Given the description of an element on the screen output the (x, y) to click on. 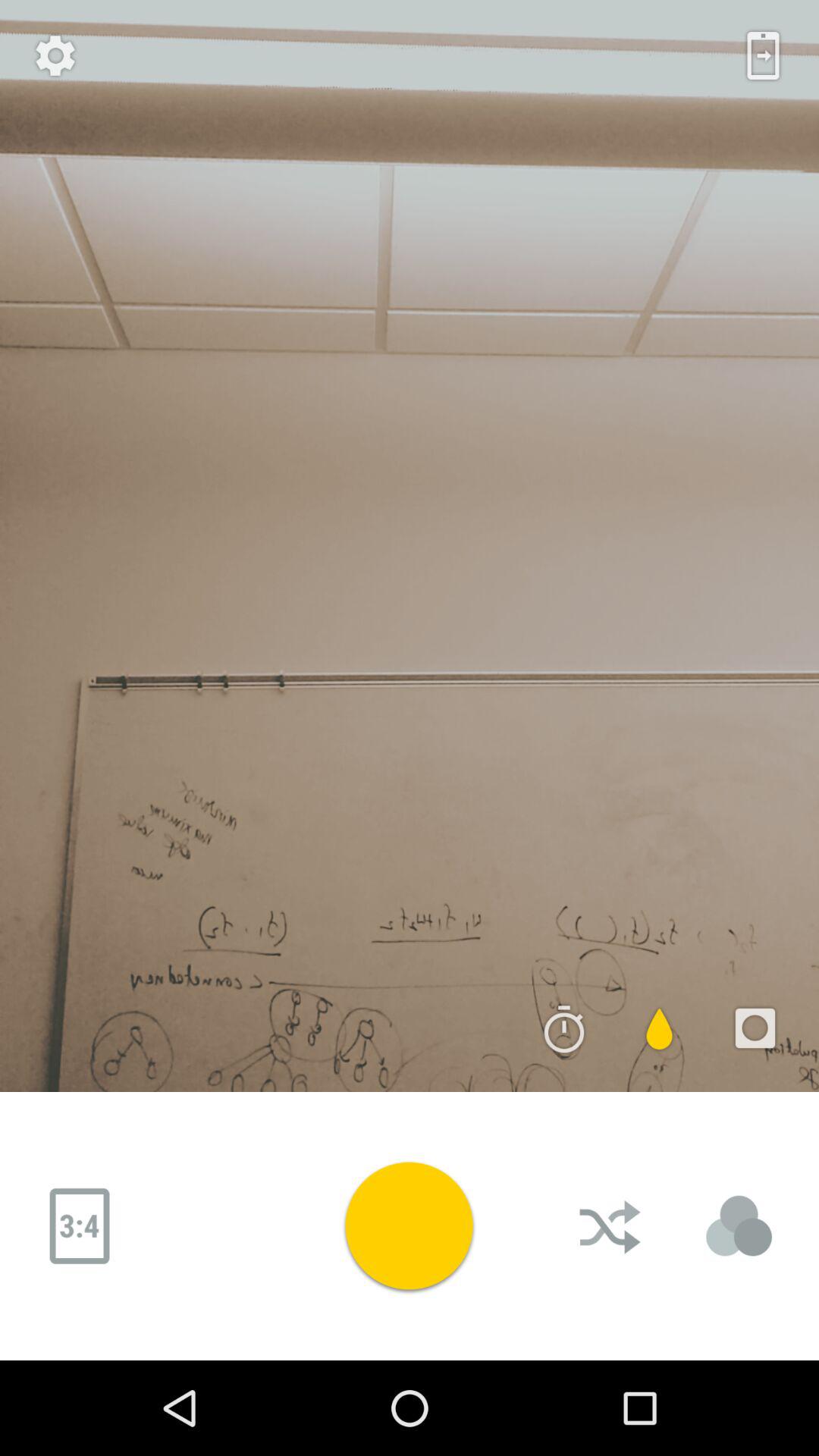
go to the next screen (763, 55)
